Given the description of an element on the screen output the (x, y) to click on. 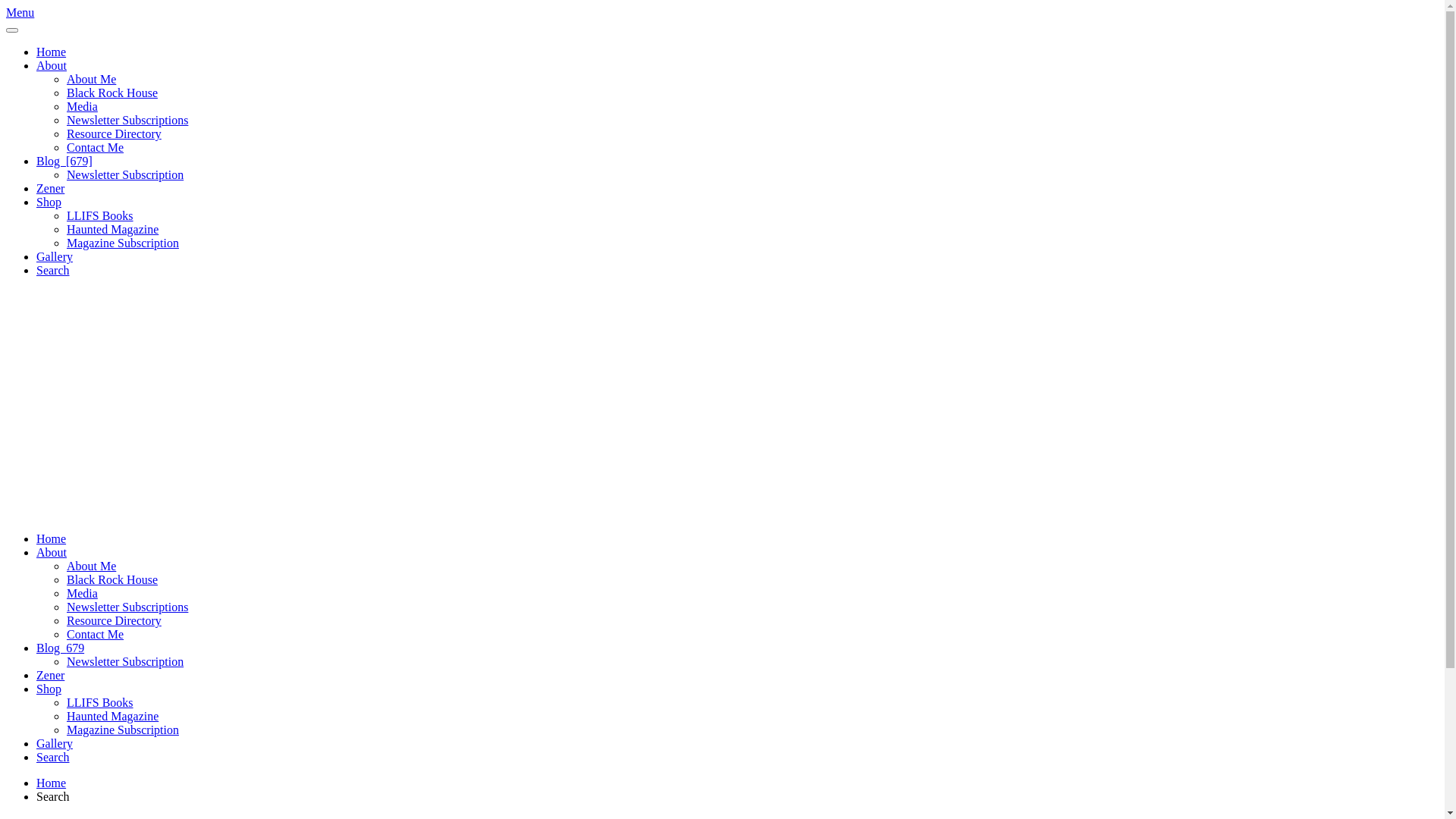
Newsletter Subscriptions Element type: text (127, 119)
Newsletter Subscriptions Element type: text (127, 606)
Home Element type: text (50, 51)
Home Element type: text (50, 782)
Zener Element type: text (50, 188)
Blog  679 Element type: text (60, 647)
Contact Me Element type: text (94, 147)
About Me Element type: text (91, 78)
LLIFS Books Element type: text (99, 215)
Zener Element type: text (50, 674)
Black Rock House Element type: text (111, 579)
Haunted Magazine Element type: text (112, 715)
Resource Directory Element type: text (113, 620)
Search Element type: text (52, 269)
About Element type: text (51, 552)
Magazine Subscription Element type: text (122, 729)
Magazine Subscription Element type: text (122, 242)
About Element type: text (51, 65)
Newsletter Subscription Element type: text (124, 661)
Contact Me Element type: text (94, 633)
Newsletter Subscription Element type: text (124, 174)
Search Element type: text (52, 756)
Gallery Element type: text (54, 743)
Media Element type: text (81, 592)
Blog  [679] Element type: text (64, 160)
Shop Element type: text (48, 201)
Black Rock House Element type: text (111, 92)
Home Element type: text (50, 538)
About Me Element type: text (91, 565)
Media Element type: text (81, 106)
Shop Element type: text (48, 688)
Menu Element type: text (20, 12)
Haunted Magazine Element type: text (112, 228)
LLIFS Books Element type: text (99, 702)
Resource Directory Element type: text (113, 133)
Gallery Element type: text (54, 256)
